Given the description of an element on the screen output the (x, y) to click on. 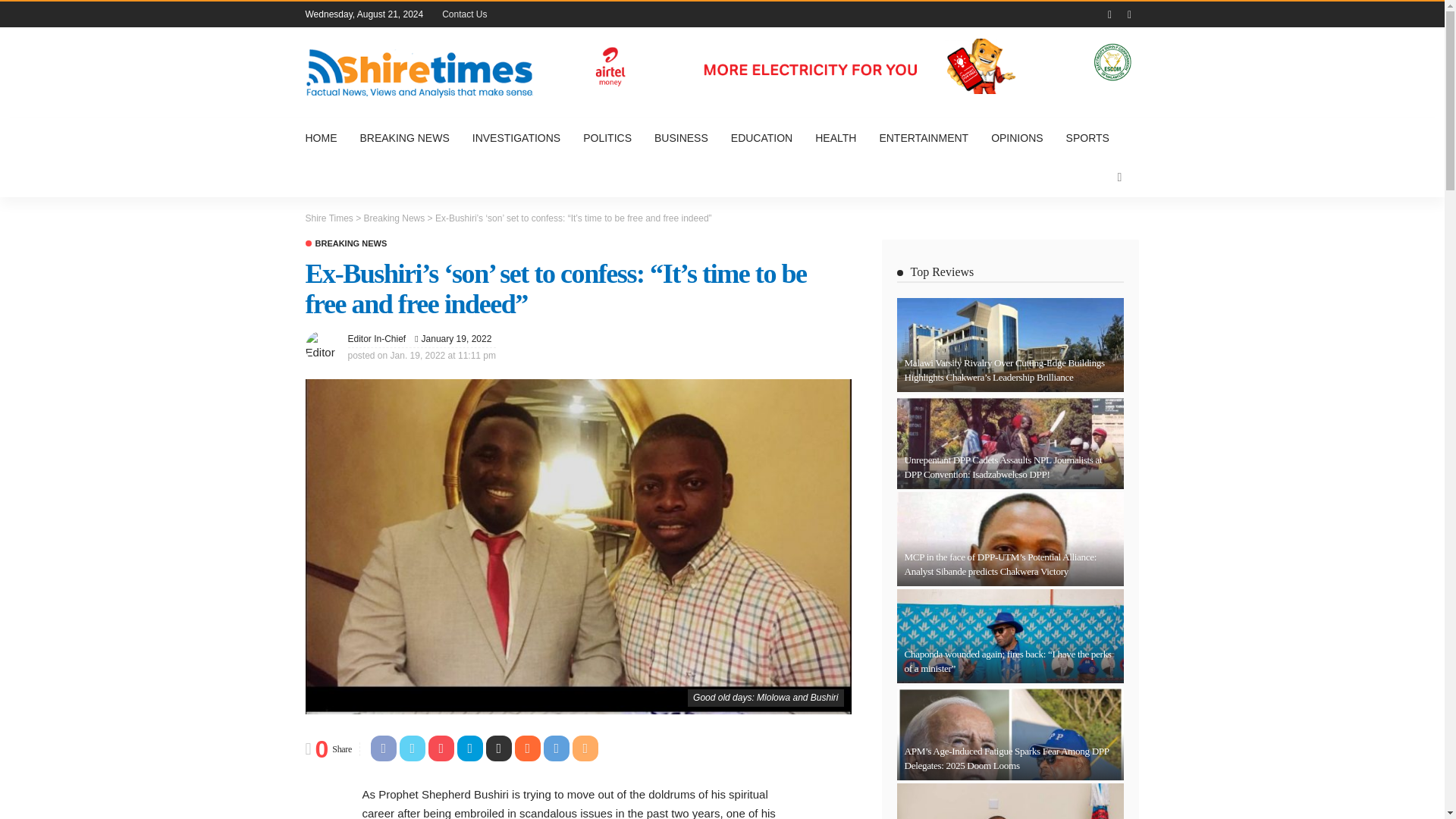
BREAKING NEWS (405, 137)
HOME (325, 137)
Contact Us (464, 14)
